Given the description of an element on the screen output the (x, y) to click on. 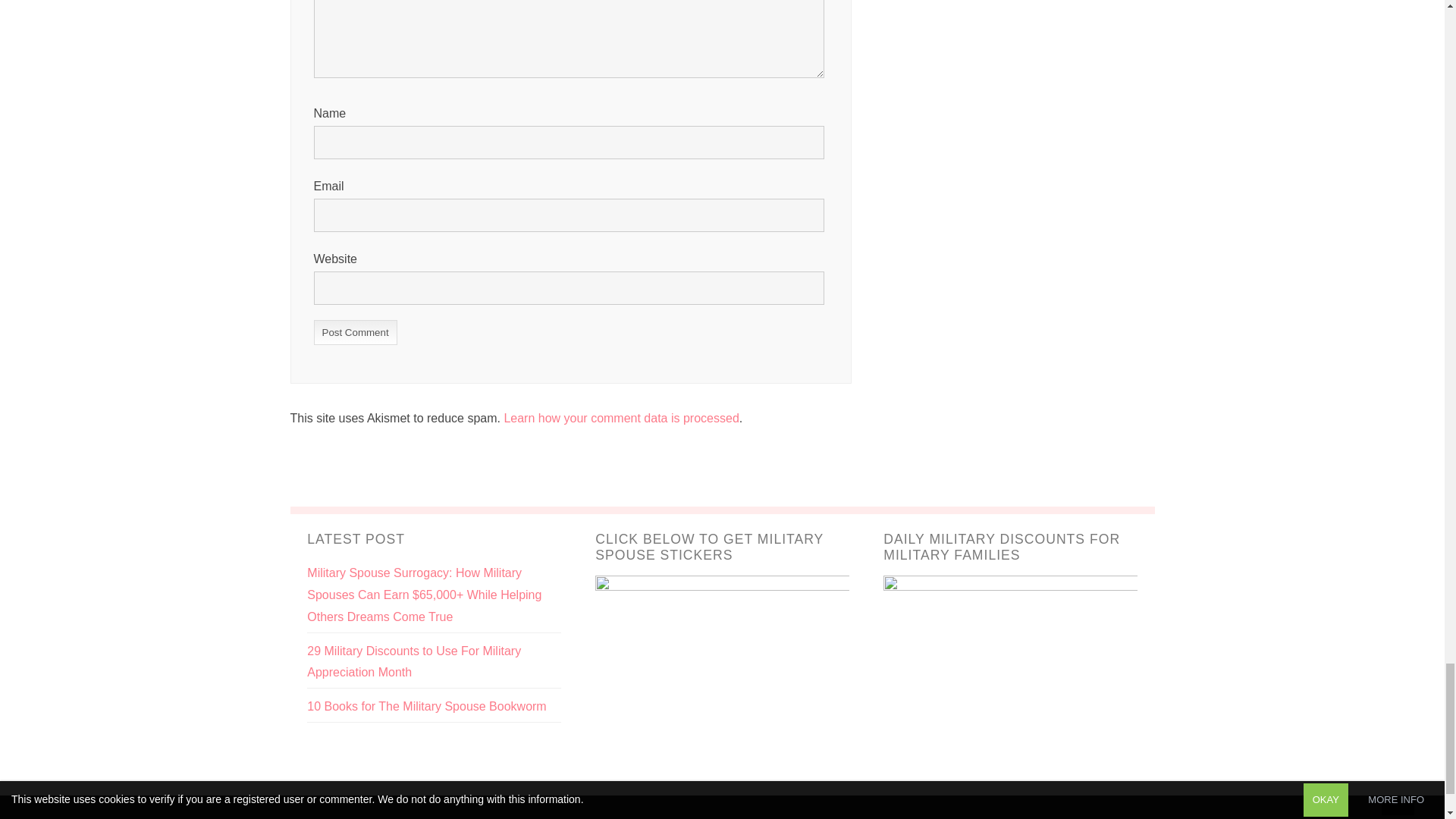
Post Comment (355, 332)
daily military discounts for military families (1010, 696)
